Given the description of an element on the screen output the (x, y) to click on. 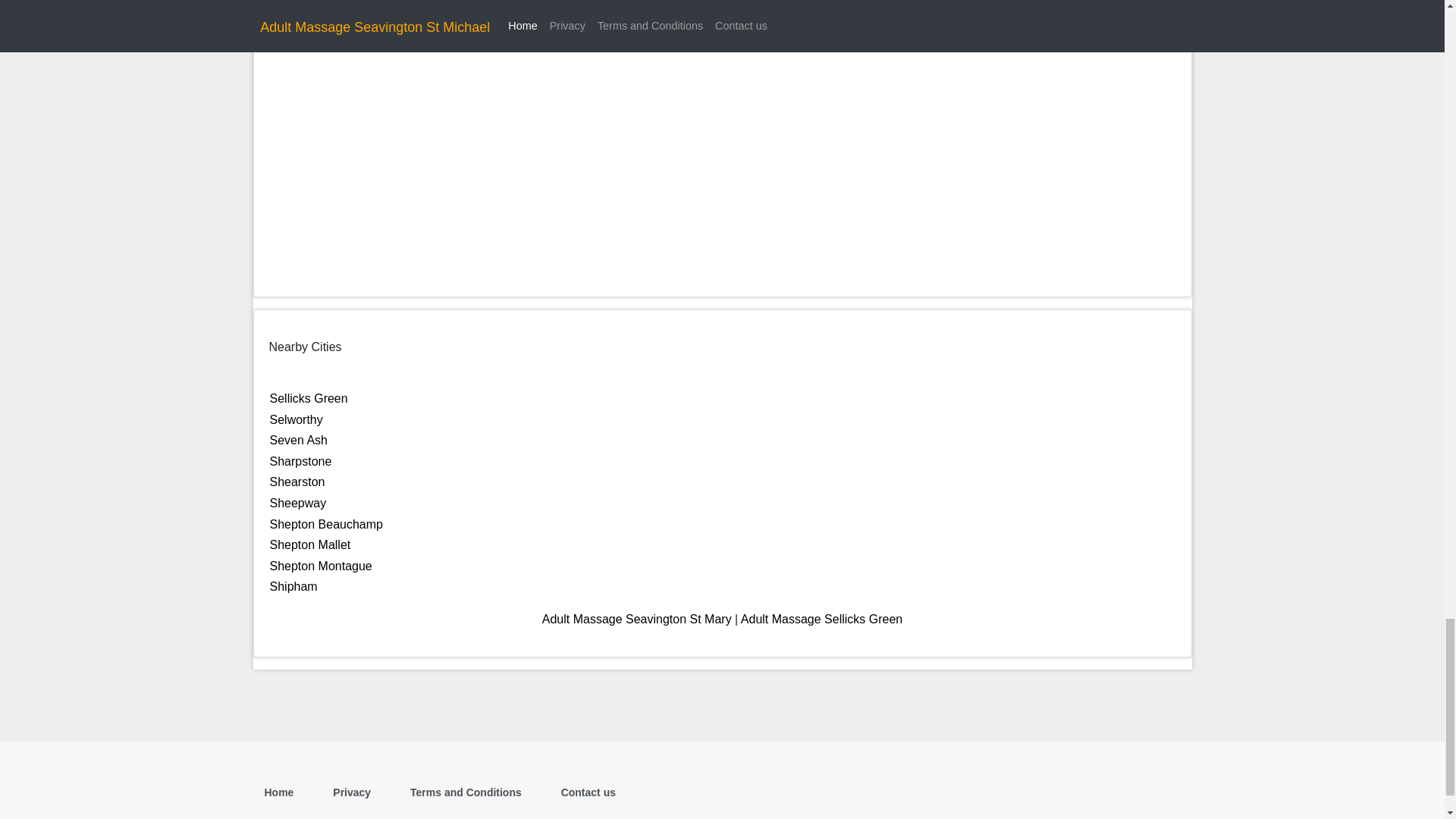
Shepton Mallet (309, 544)
Shipham (293, 585)
Shearston (296, 481)
Adult Massage Seavington St Mary (636, 618)
Seven Ash (299, 440)
Adult Massage Sellicks Green (821, 618)
Sheepway (297, 502)
Sharpstone (300, 461)
Shepton Beauchamp (325, 523)
Selworthy (296, 419)
